Given the description of an element on the screen output the (x, y) to click on. 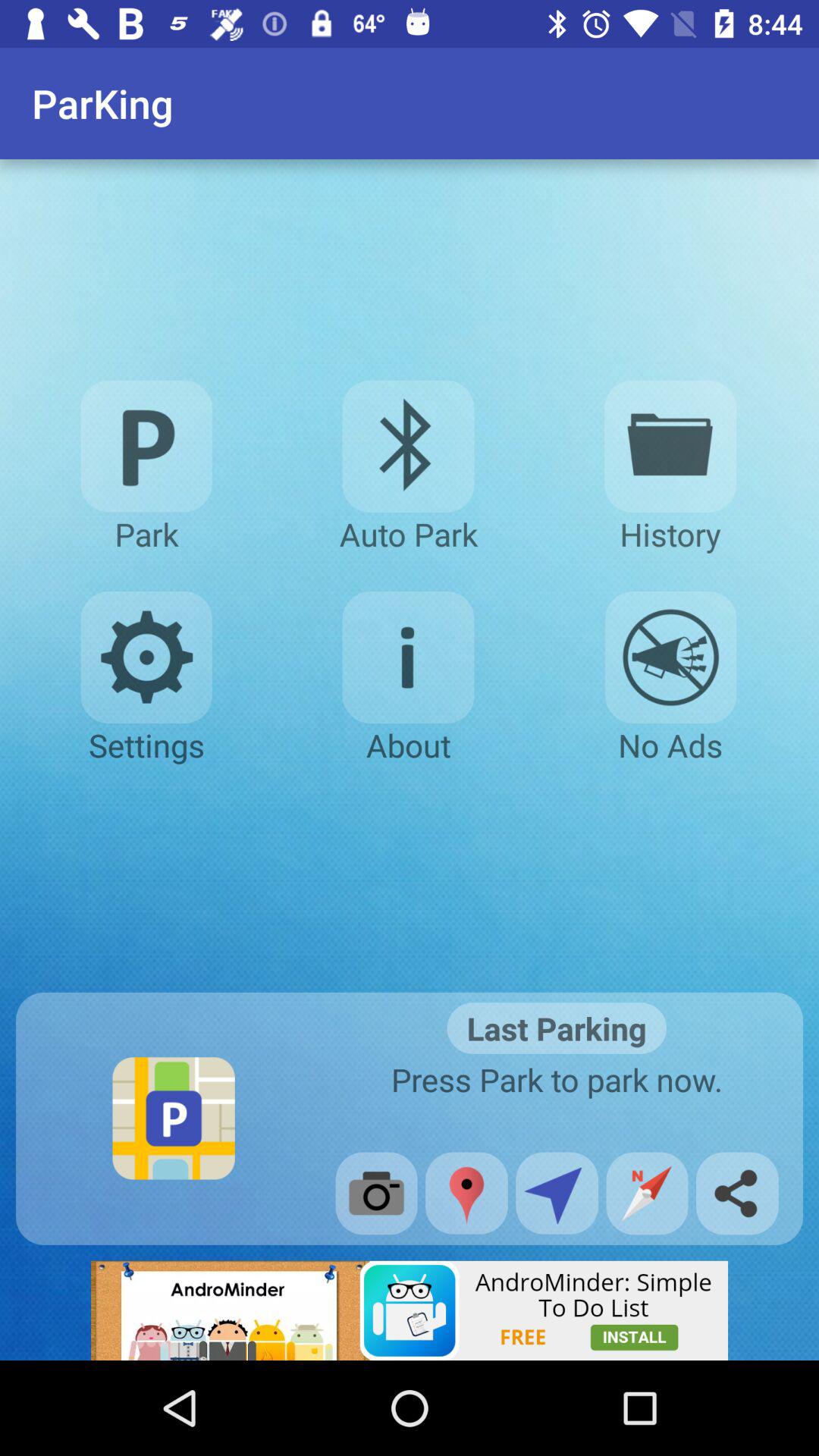
location service option (556, 1193)
